Given the description of an element on the screen output the (x, y) to click on. 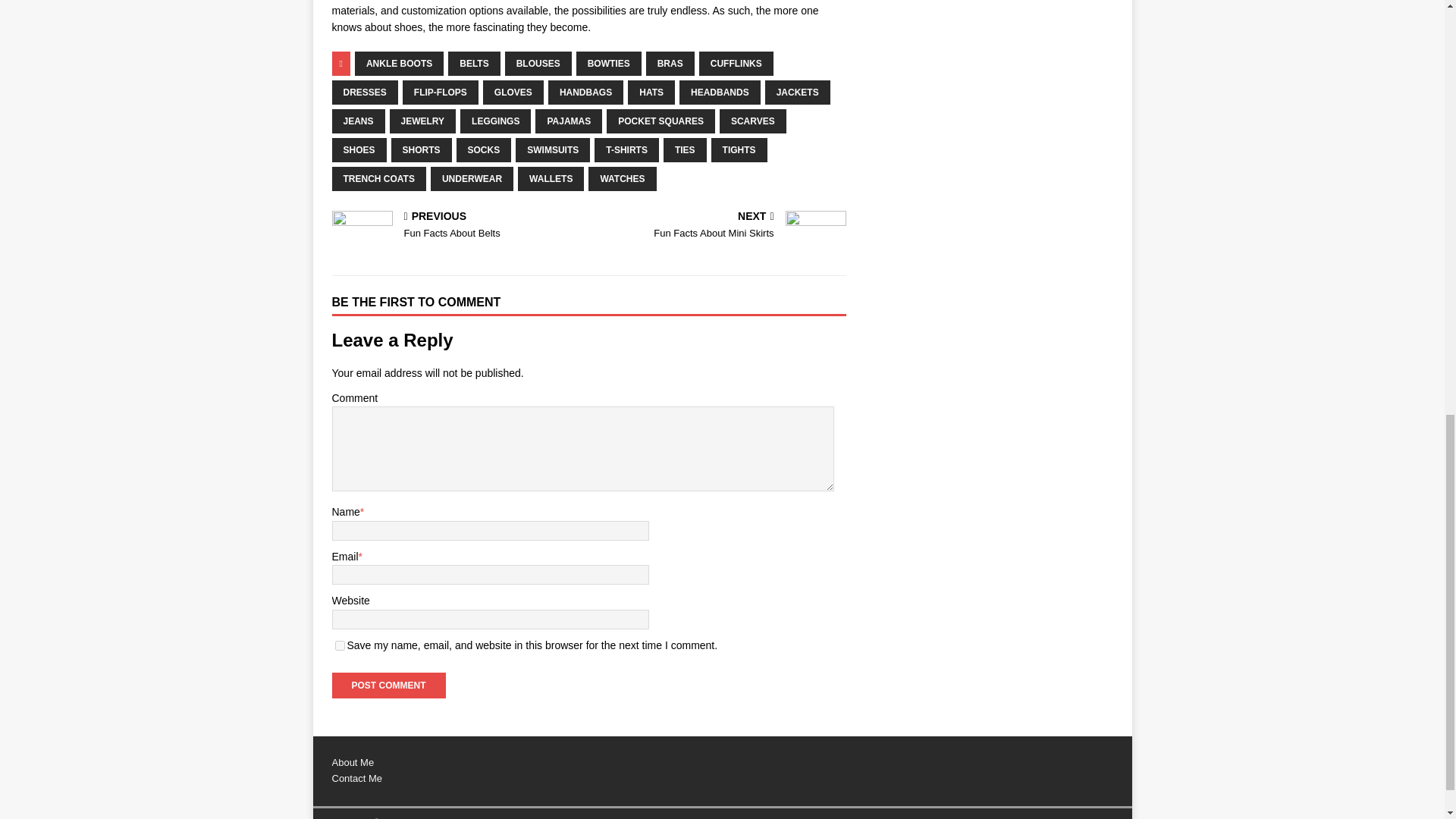
PAJAMAS (568, 120)
yes (339, 645)
BRAS (670, 63)
JACKETS (797, 92)
Post Comment (388, 685)
FLIP-FLOPS (441, 92)
JEWELRY (423, 120)
BOWTIES (609, 63)
BLOUSES (538, 63)
HATS (651, 92)
